Given the description of an element on the screen output the (x, y) to click on. 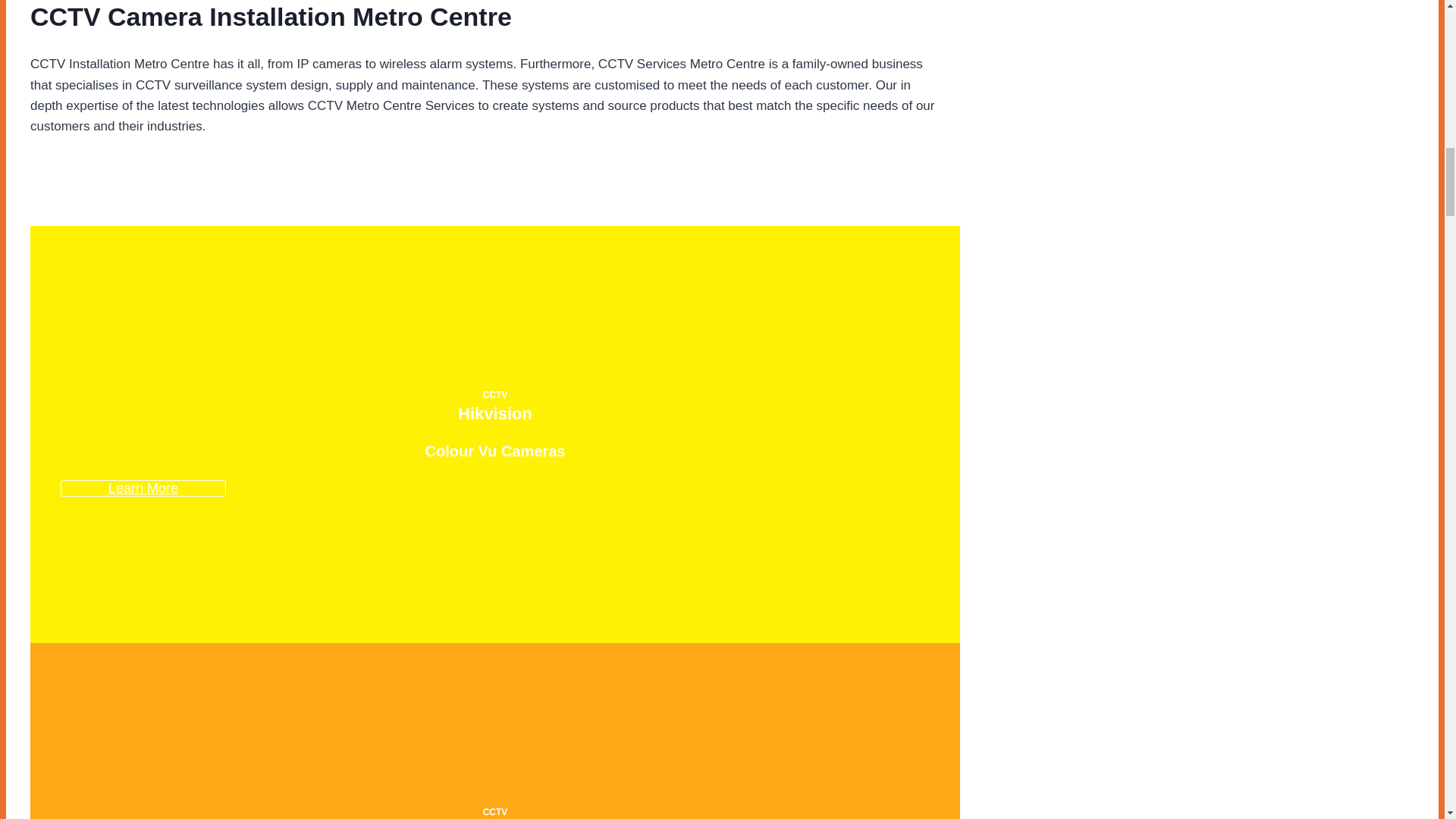
Learn More (143, 487)
